Given the description of an element on the screen output the (x, y) to click on. 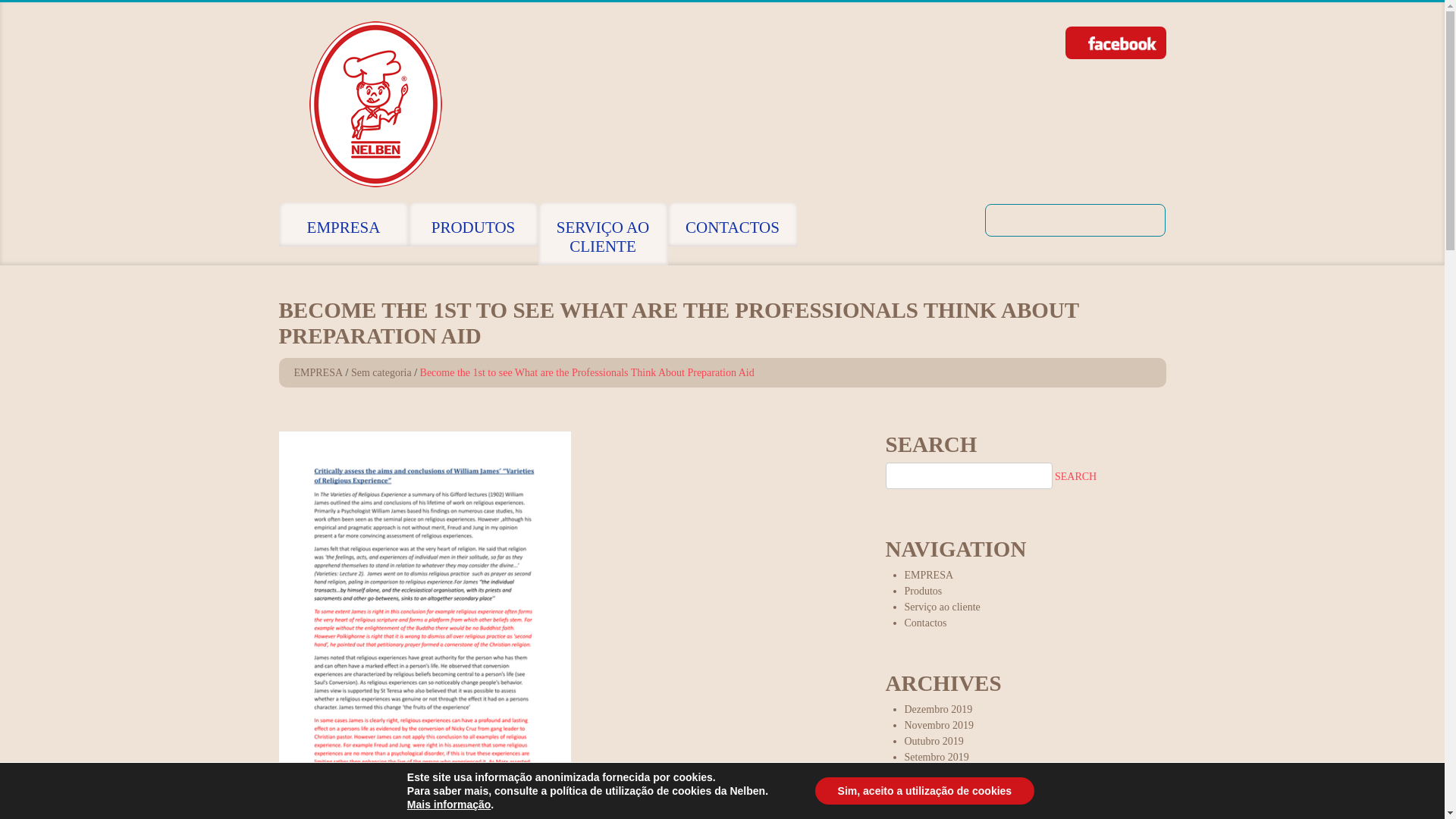
CONTACTOS (731, 224)
Contactos (925, 622)
facebook (1121, 42)
Julho 2019 (927, 788)
PRODUTOS (472, 224)
Setembro 2019 (936, 756)
EMPRESA (318, 372)
Produtos (923, 591)
search (1075, 476)
Dezembro 2019 (938, 708)
